Given the description of an element on the screen output the (x, y) to click on. 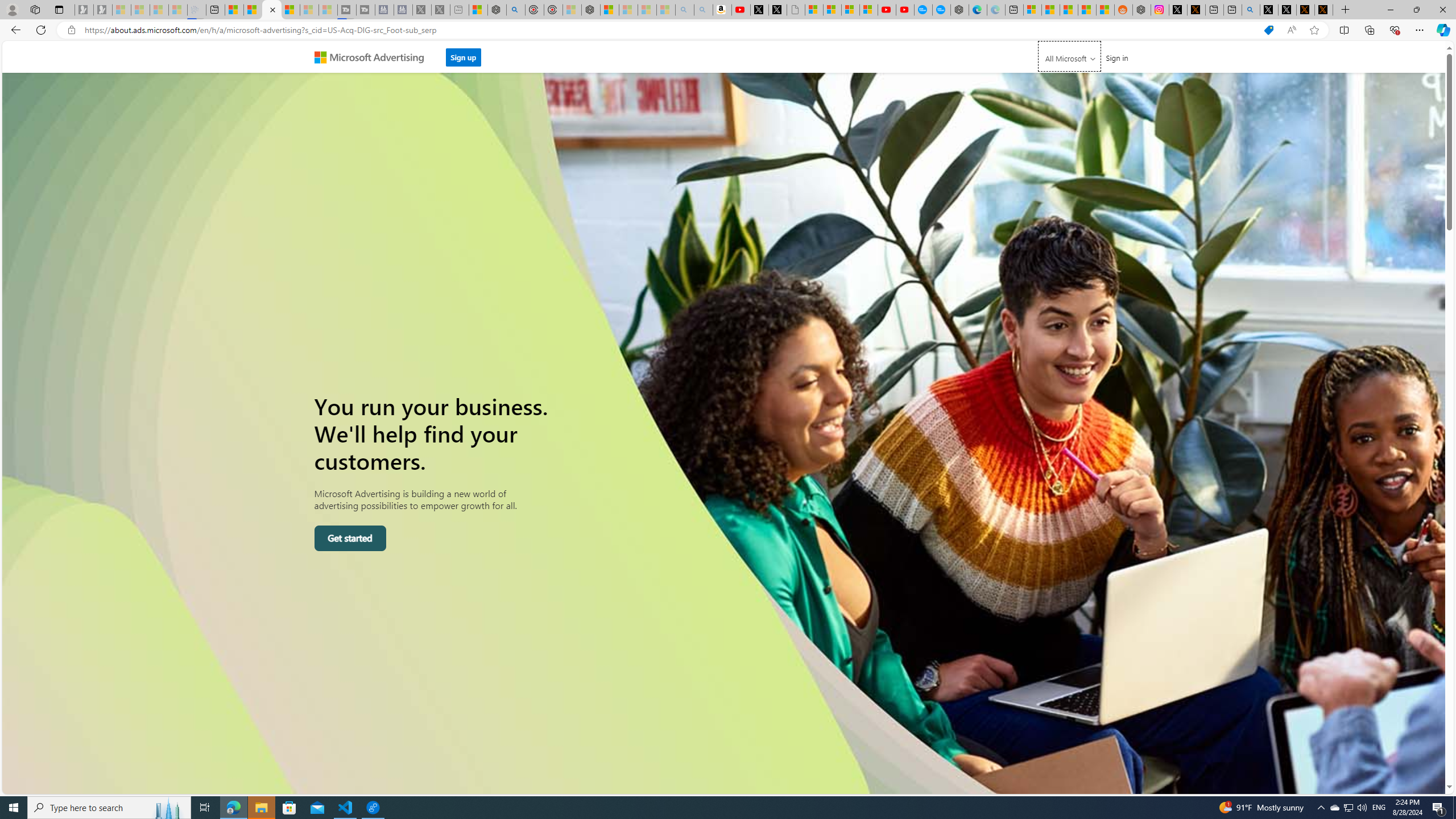
Wildlife - MSN (478, 9)
Amazon Echo Dot PNG - Search Images - Sleeping (702, 9)
Nordace - Nordace has arrived Hong Kong (960, 9)
Log in to X / X (1178, 9)
